Given the description of an element on the screen output the (x, y) to click on. 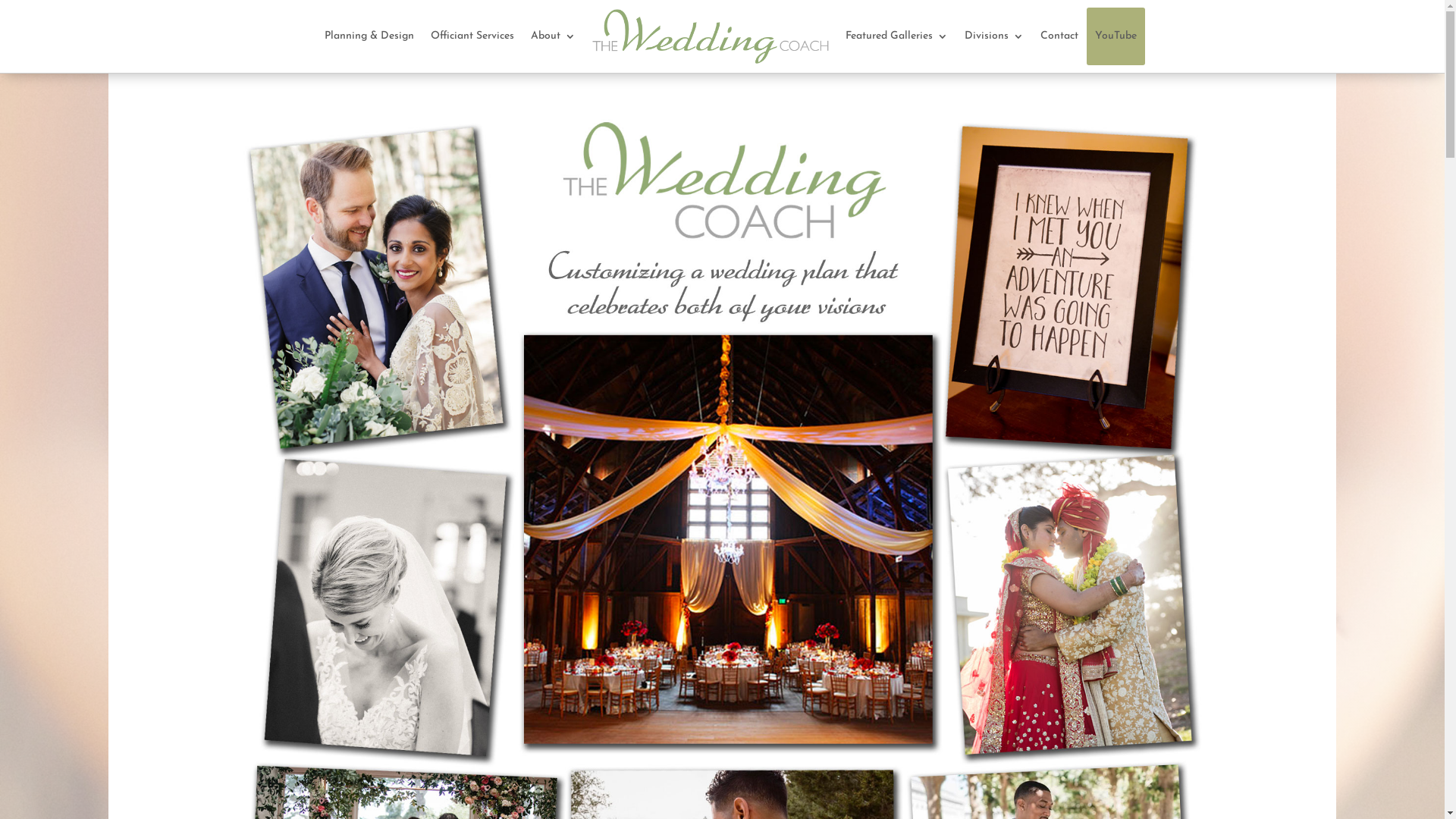
YouTube Element type: text (1115, 36)
Divisions Element type: text (993, 36)
Officiant Services Element type: text (472, 36)
Planning & Design Element type: text (369, 36)
Featured Galleries Element type: text (896, 36)
Contact Element type: text (1059, 36)
About Element type: text (552, 36)
